Given the description of an element on the screen output the (x, y) to click on. 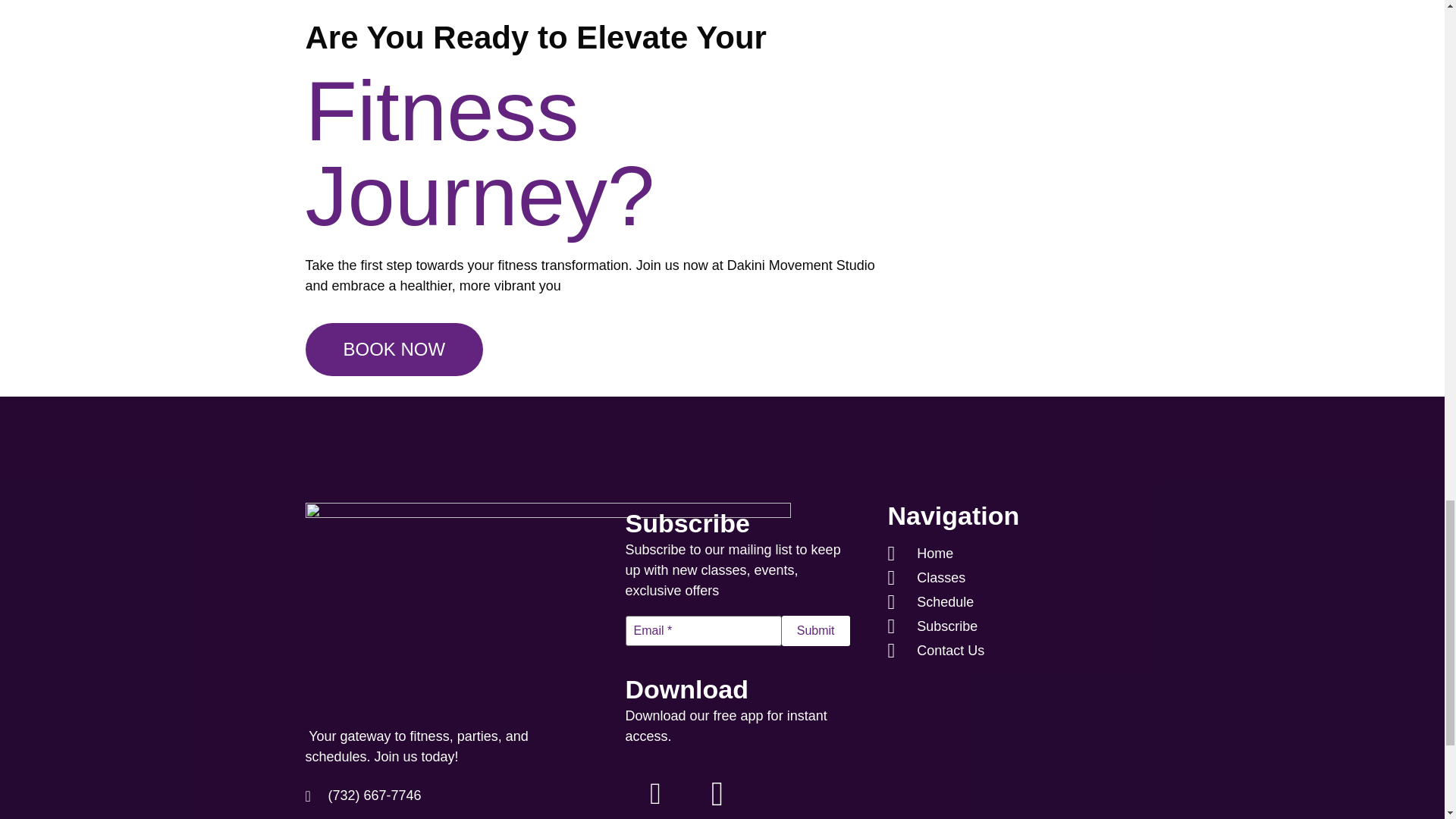
Classes (985, 578)
Home (985, 553)
Schedule (985, 602)
BOOK NOW (393, 348)
Contact Us (985, 650)
Submit (815, 630)
Subscribe (985, 626)
